Given the description of an element on the screen output the (x, y) to click on. 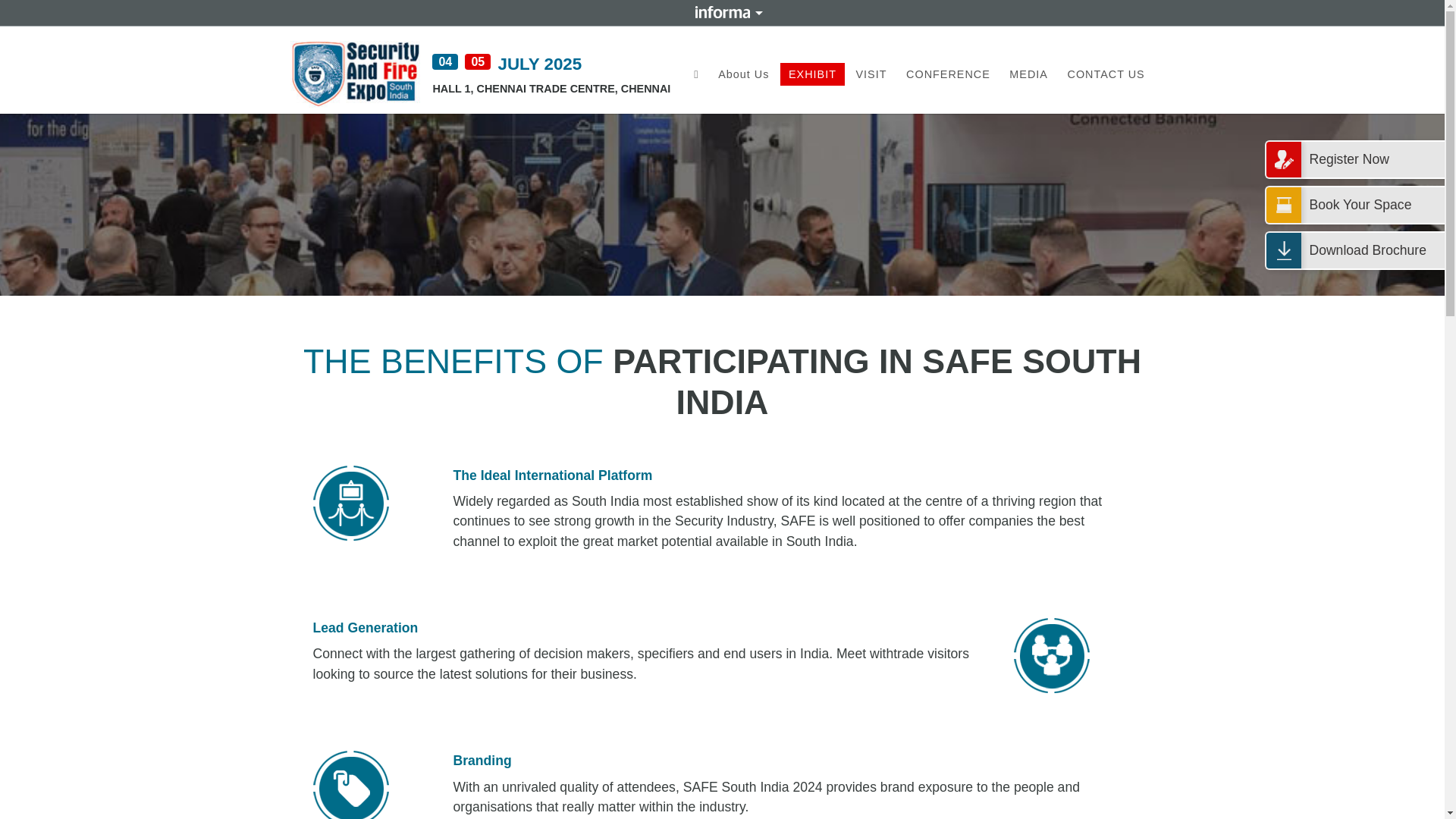
MEDIA (1029, 74)
EXHIBIT (812, 74)
CONTACT US (1105, 74)
Informa (722, 11)
About Us (743, 74)
CONFERENCE (948, 74)
VISIT (871, 74)
